Given the description of an element on the screen output the (x, y) to click on. 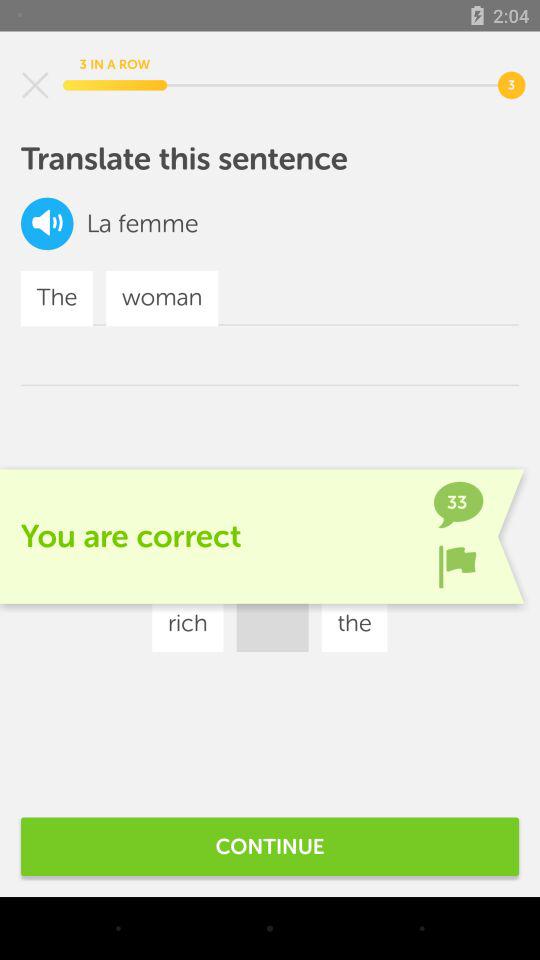
scroll to am item (375, 563)
